Given the description of an element on the screen output the (x, y) to click on. 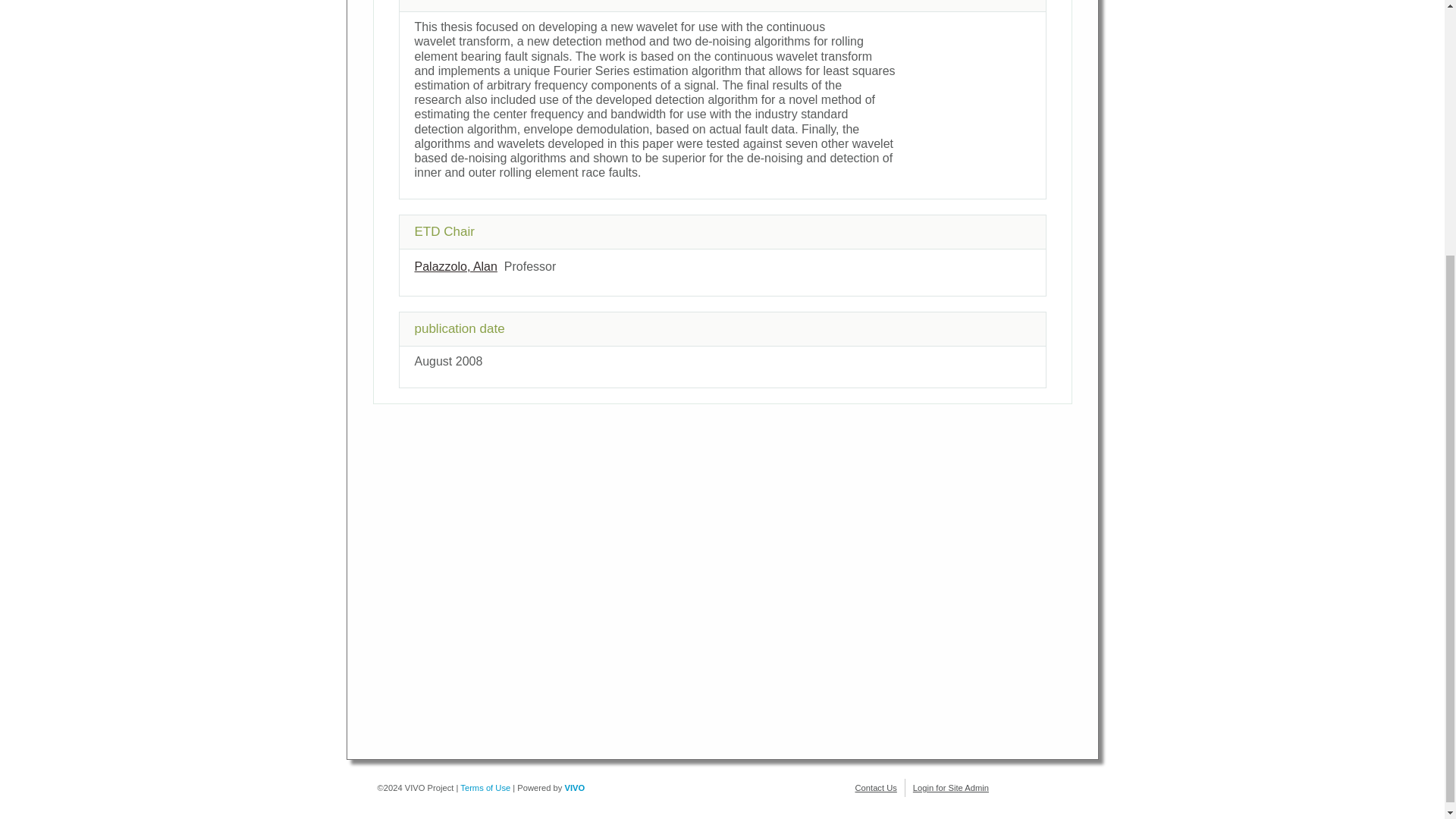
Contact Us (876, 787)
Contact Us (876, 787)
Terms of Use (485, 787)
Terms of Use (485, 787)
Palazzolo, Alan (454, 266)
VIVO (574, 787)
Login for Site Admin (950, 787)
Powered by VIVO (574, 787)
Login for Site Admin (950, 787)
name (454, 266)
